Given the description of an element on the screen output the (x, y) to click on. 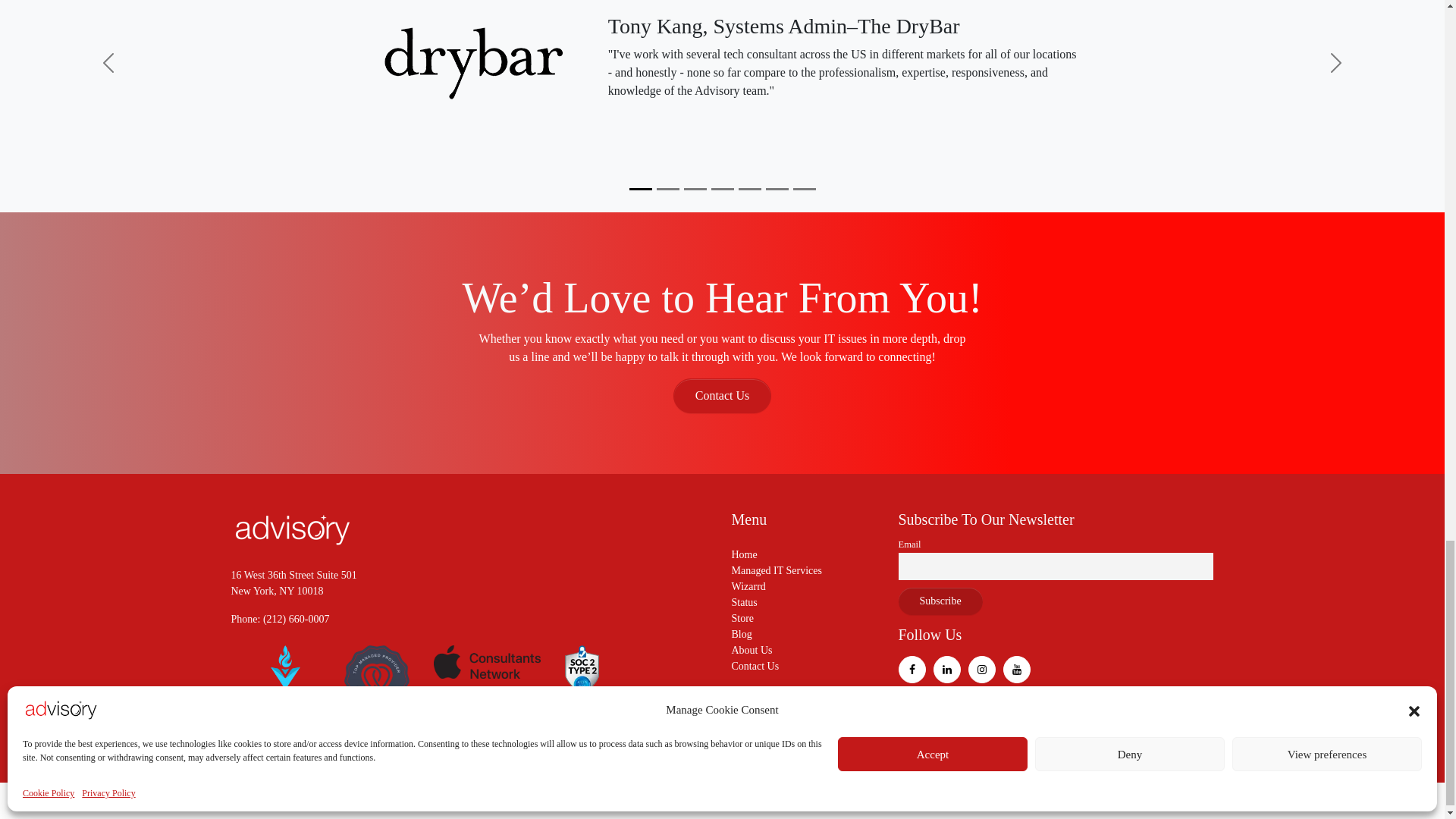
Subscribe (939, 601)
